Given the description of an element on the screen output the (x, y) to click on. 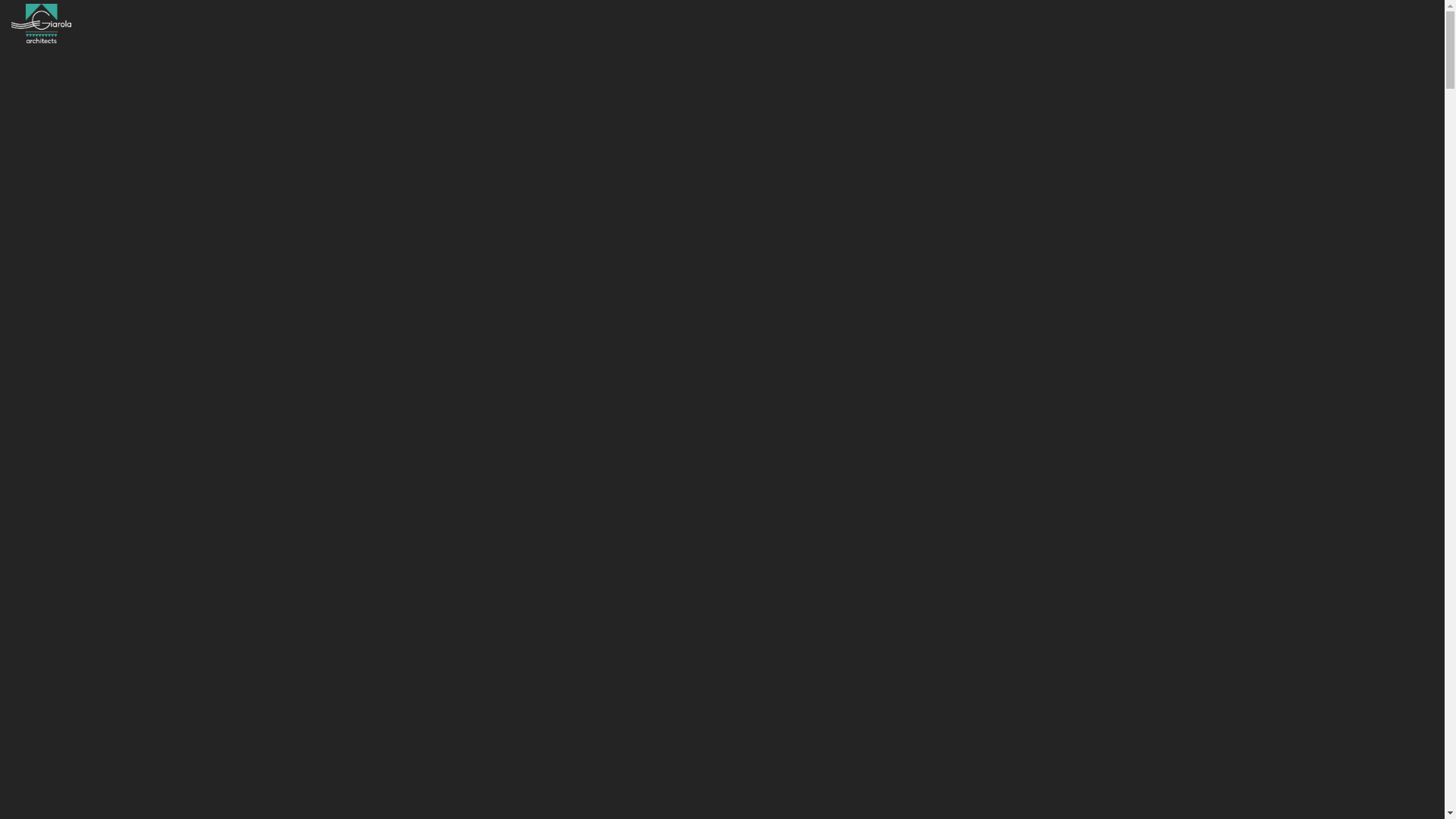
Education Element type: text (56, 81)
William Ross State High School Element type: text (246, 81)
Schools Element type: text (122, 81)
